Given the description of an element on the screen output the (x, y) to click on. 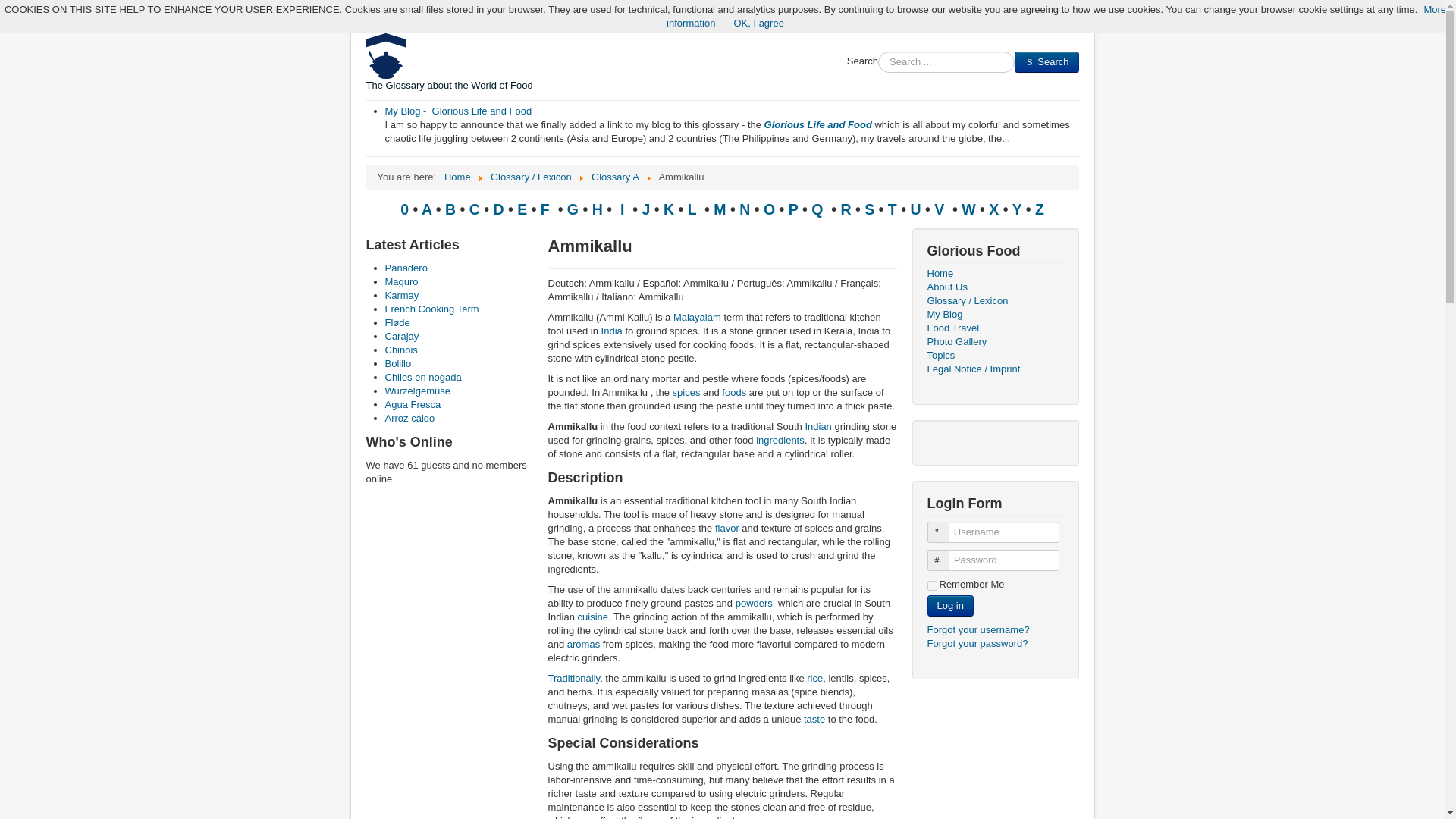
Glorious Life and Food (818, 124)
 H  (597, 208)
 Y  (1017, 208)
 J  (645, 208)
 U  (914, 208)
 F   (546, 208)
Maguro (402, 281)
Panadero (406, 267)
 D  (498, 208)
